Given the description of an element on the screen output the (x, y) to click on. 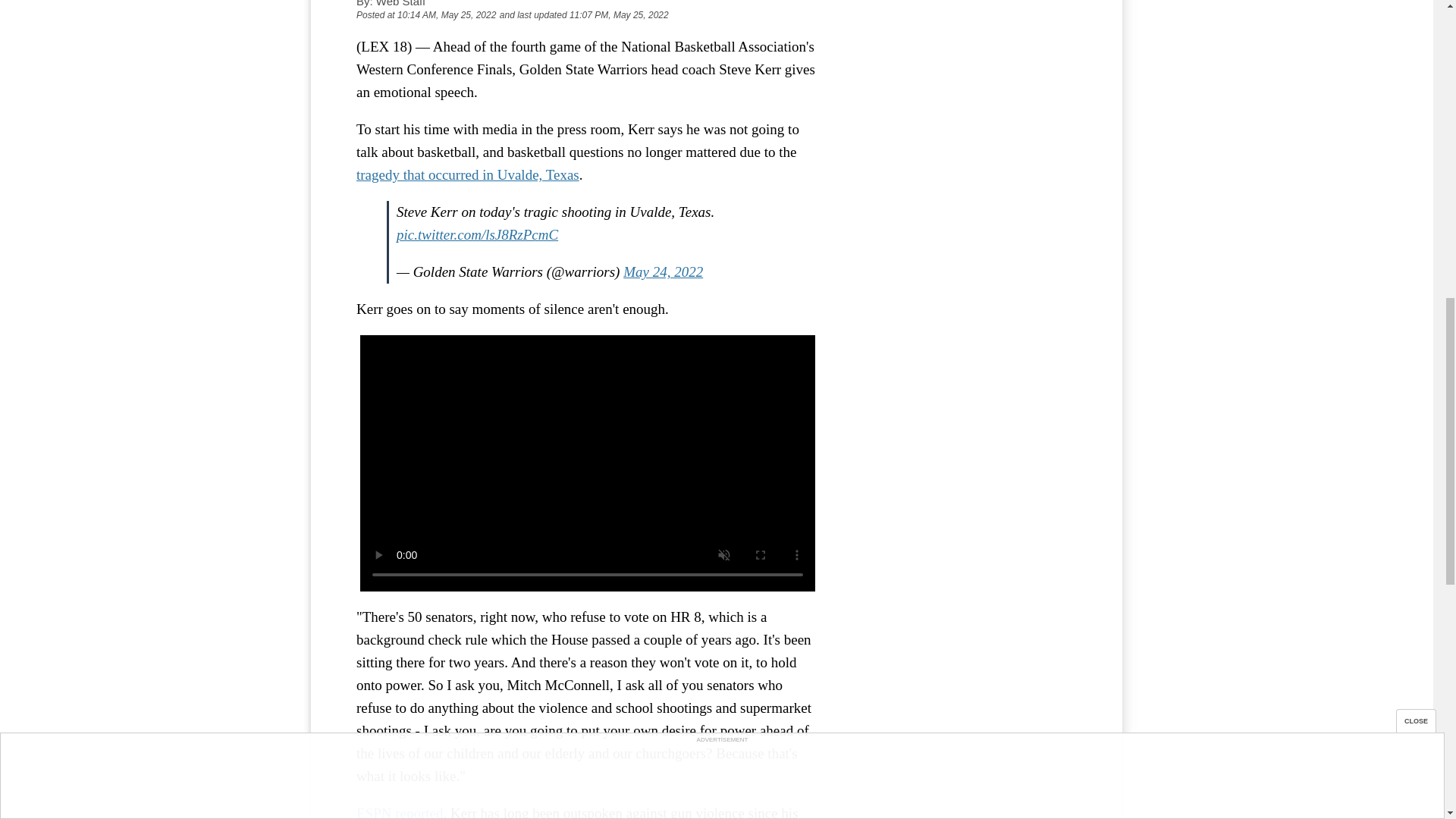
3rd party ad content (962, 59)
